Given the description of an element on the screen output the (x, y) to click on. 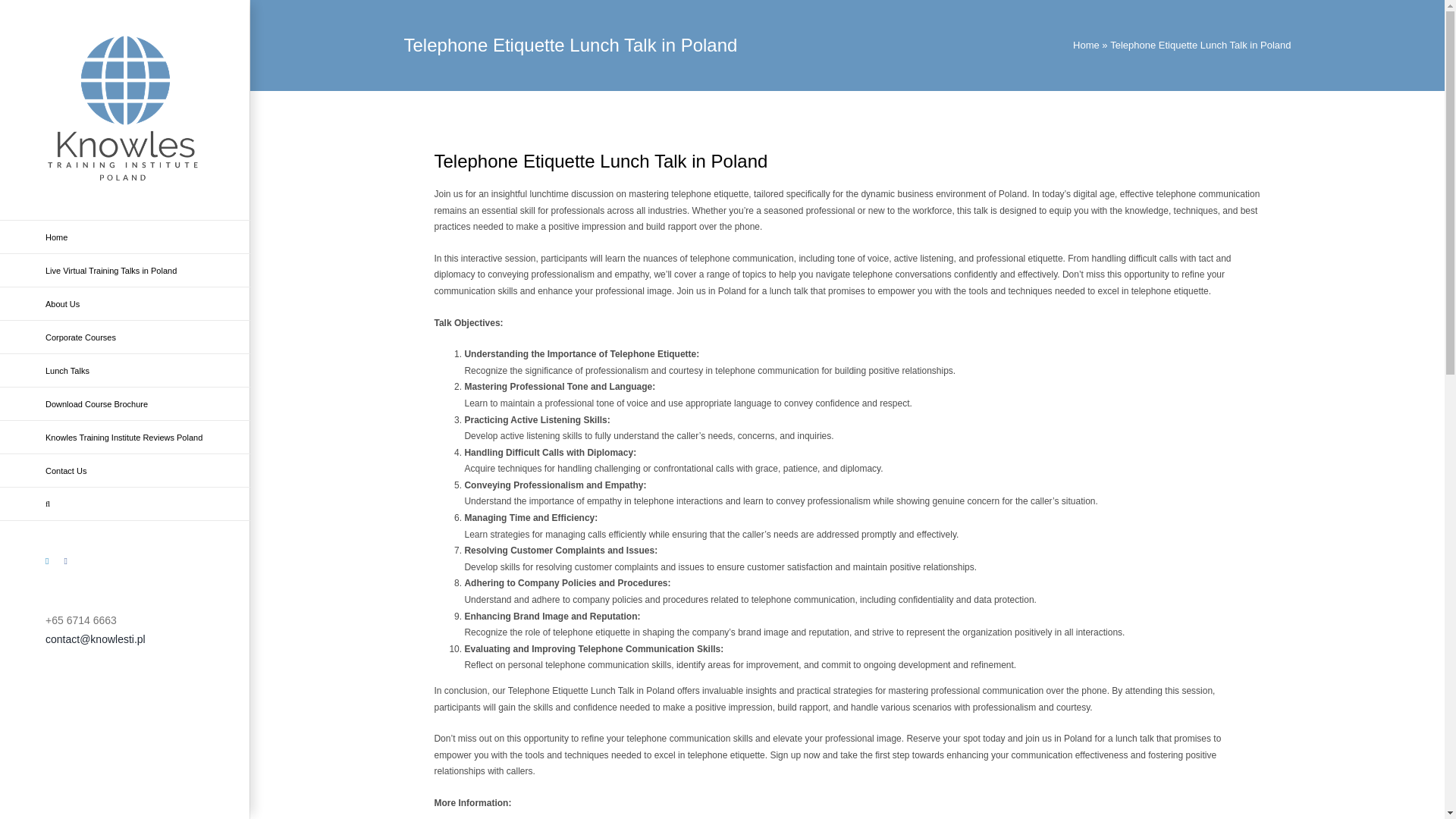
Knowles Training Institute Reviews Poland (125, 437)
Contact Us (125, 470)
Home (1086, 44)
Corporate Courses (125, 337)
Home (125, 236)
Search (125, 503)
Download Course Brochure (125, 403)
About Us (125, 304)
Live Virtual Training Talks in Poland (125, 270)
Lunch Talks (125, 370)
